Given the description of an element on the screen output the (x, y) to click on. 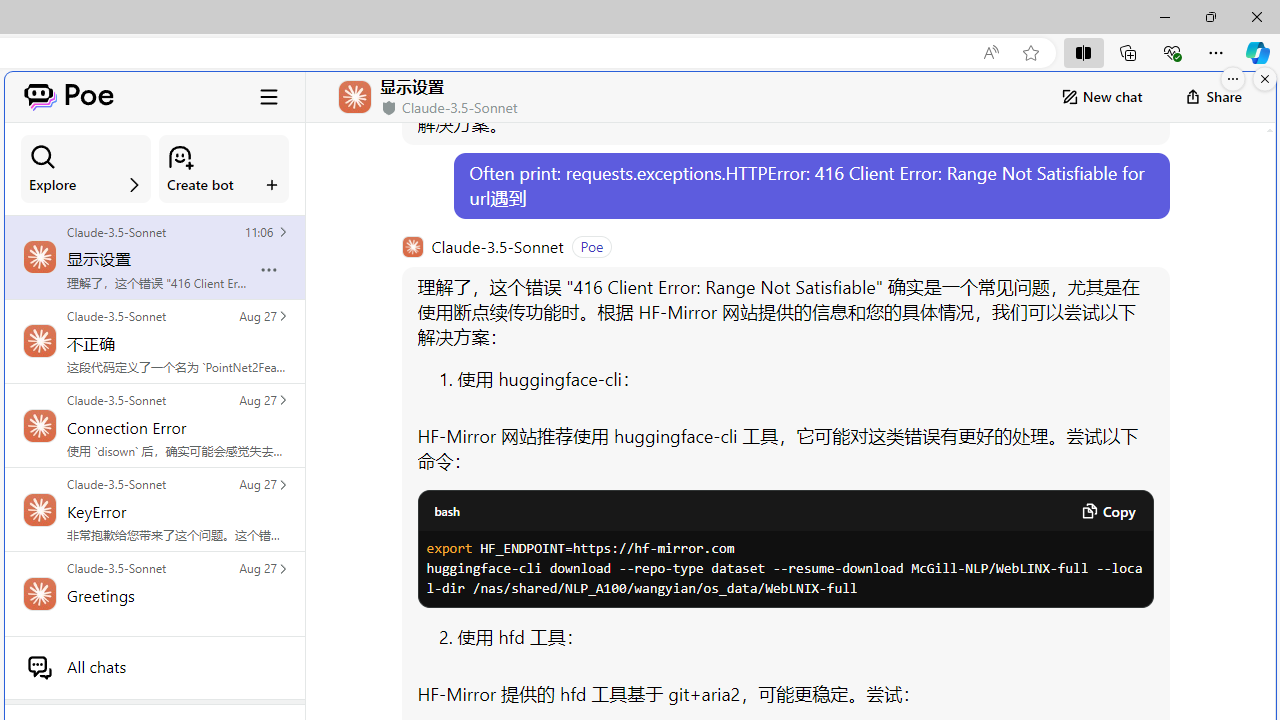
Class: ManageBotsCardSection_createBotIcon__9JUYg (180, 157)
Browser essentials (1171, 52)
Explore (85, 169)
More options. (1233, 79)
Settings and more (Alt+F) (1215, 52)
Minimize (1164, 16)
Class: ToggleSidebarCollapseButton_hamburgerIcon__VuiyV (269, 96)
Restore (1210, 16)
Poe (68, 96)
Share (1213, 96)
Add this page to favorites (Ctrl+D) (1030, 53)
Class: ManageBotsCardSection_searchIcon__laGLi (43, 157)
Poe (68, 96)
